Given the description of an element on the screen output the (x, y) to click on. 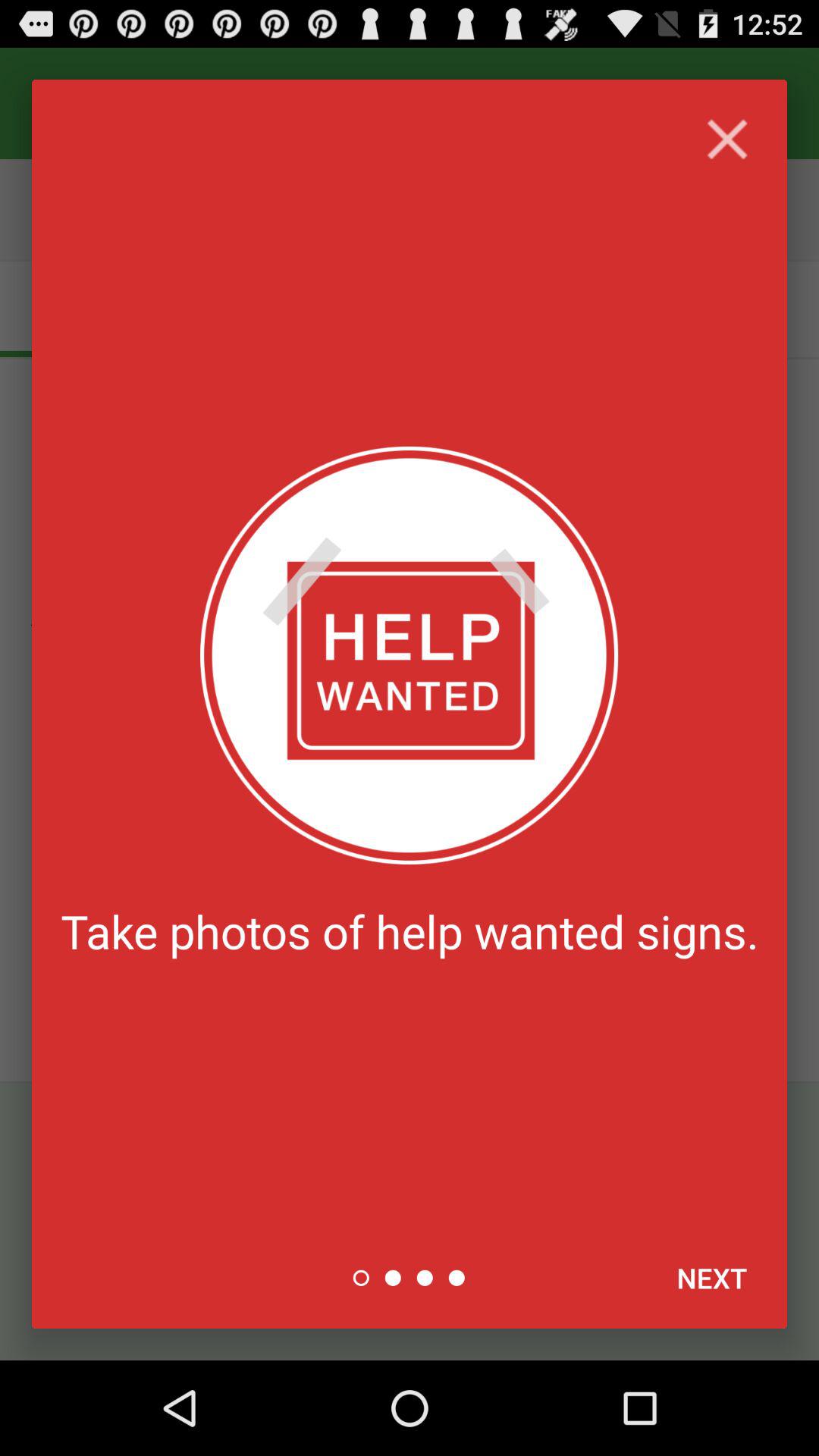
turn on next item (711, 1277)
